Given the description of an element on the screen output the (x, y) to click on. 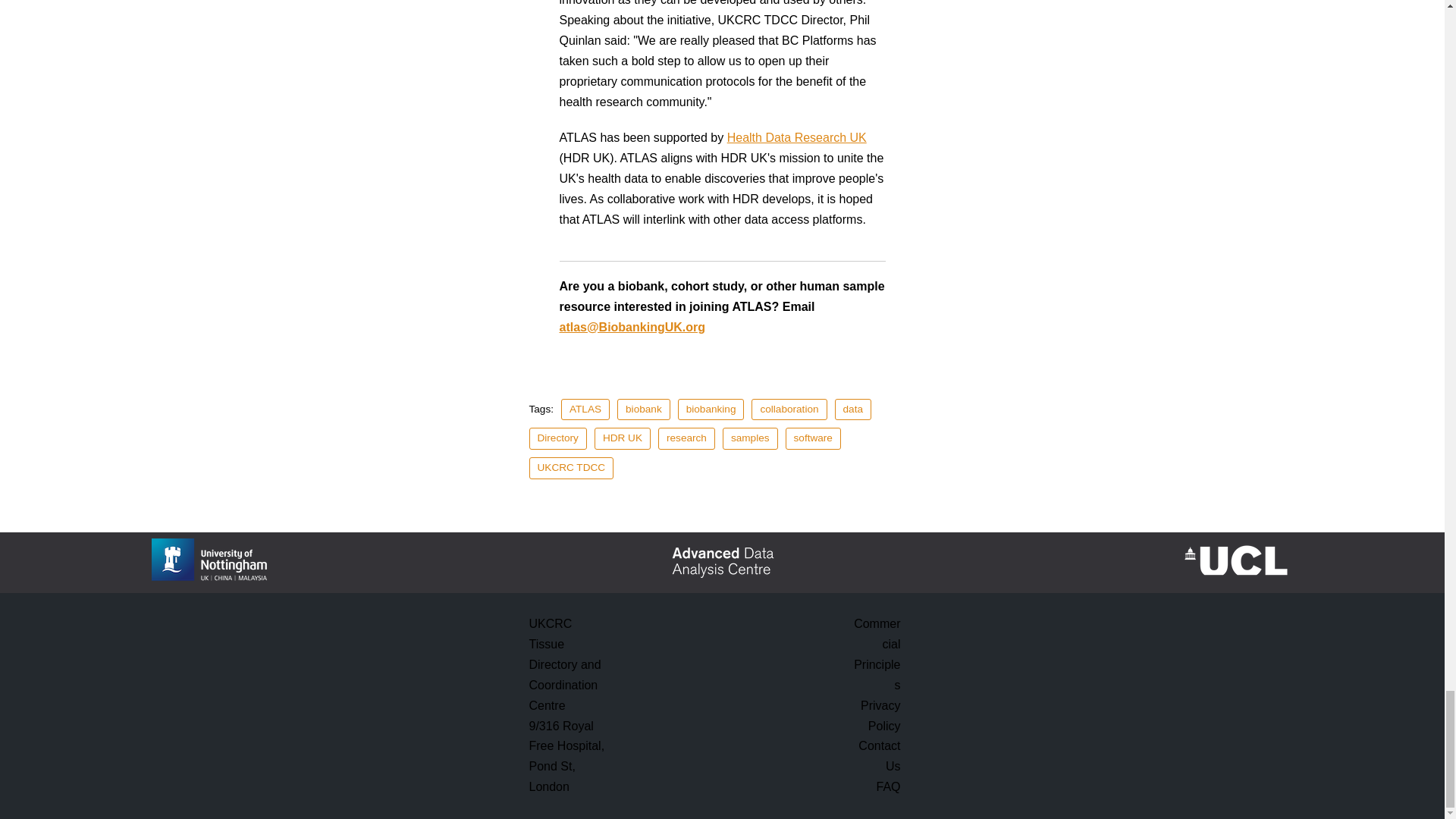
biobanking (711, 409)
Directory (557, 438)
biobank (643, 409)
data (852, 409)
HDR UK (622, 438)
research (686, 438)
ATLAS (585, 409)
collaboration (789, 409)
